Given the description of an element on the screen output the (x, y) to click on. 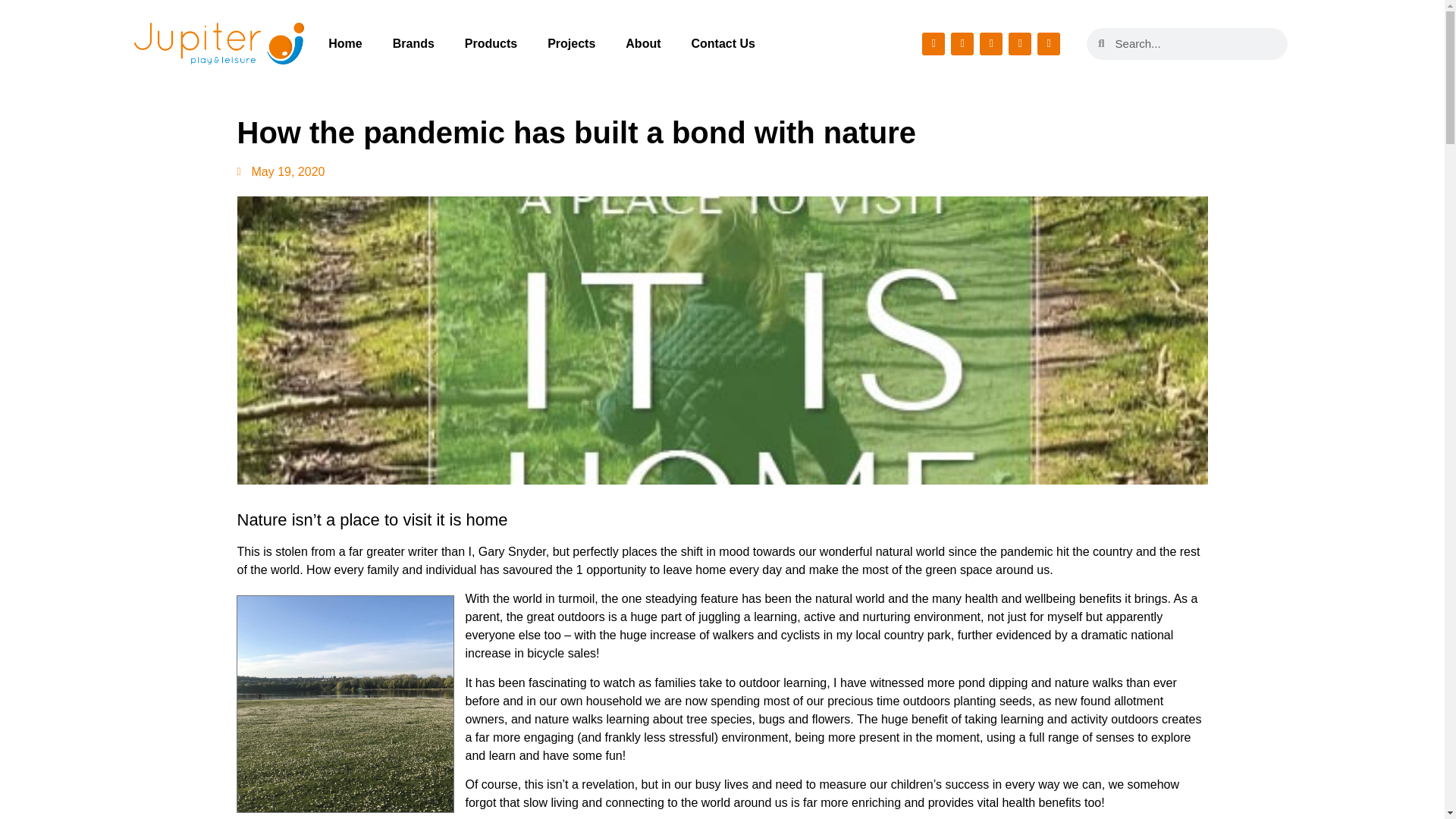
Home (345, 42)
Brands (413, 42)
Products (490, 42)
Projects (571, 42)
About (642, 42)
Contact Us (723, 42)
